Given the description of an element on the screen output the (x, y) to click on. 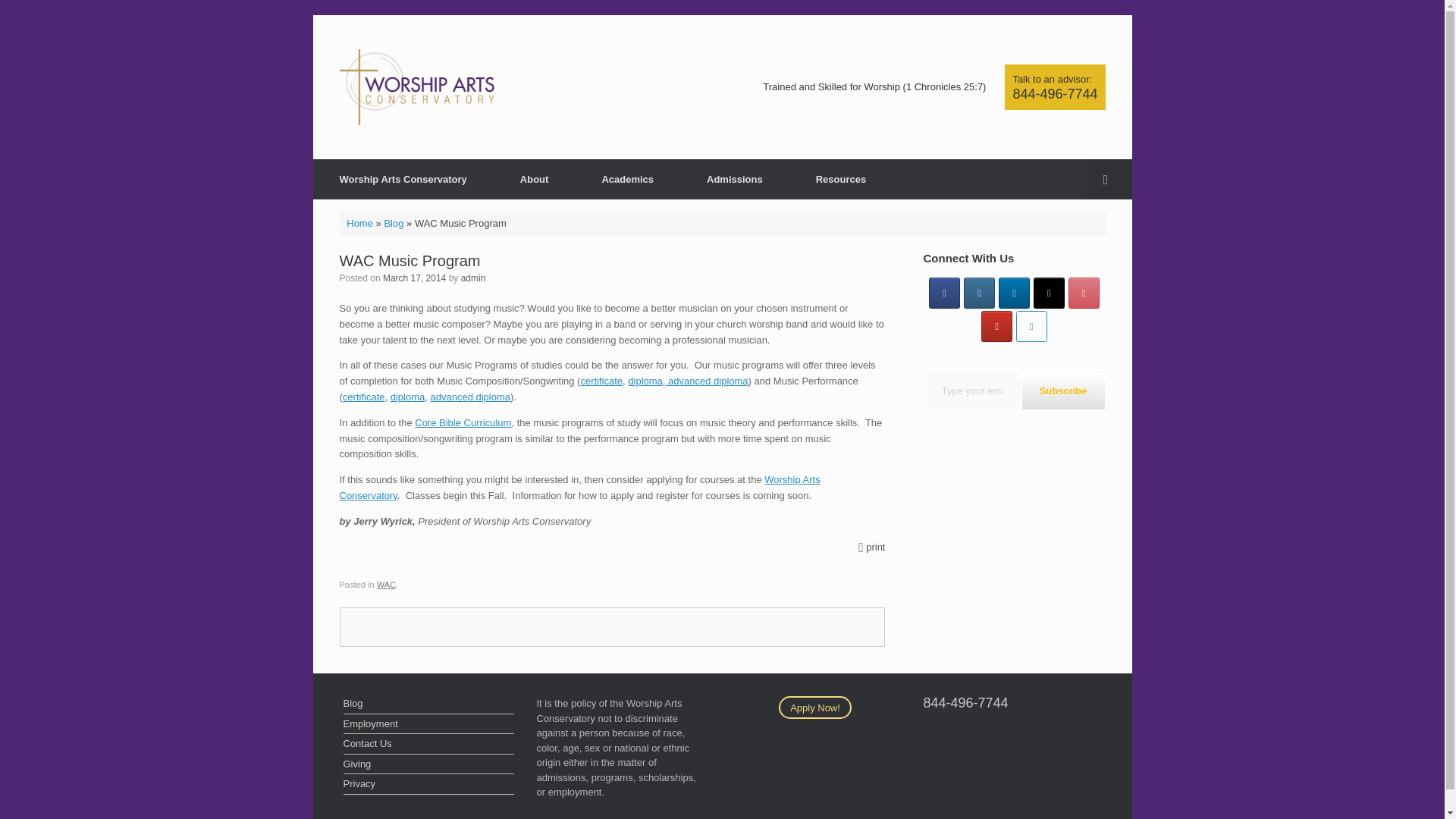
Blog (393, 222)
Worship Performance Certificate (363, 396)
About (534, 178)
Please fill in this field. (972, 391)
Worship Arts Conservatory on Spotify (1031, 326)
WAC Core Bible and Theology (462, 422)
3:00 pm (413, 277)
Resources (840, 178)
Home (359, 222)
View all posts by admin (473, 277)
Instagram (978, 292)
Academics (627, 178)
Songwriting Certificate (601, 380)
Music Composition Advanced Diploma (706, 380)
Worship Arts Conservatory (403, 178)
